Given the description of an element on the screen output the (x, y) to click on. 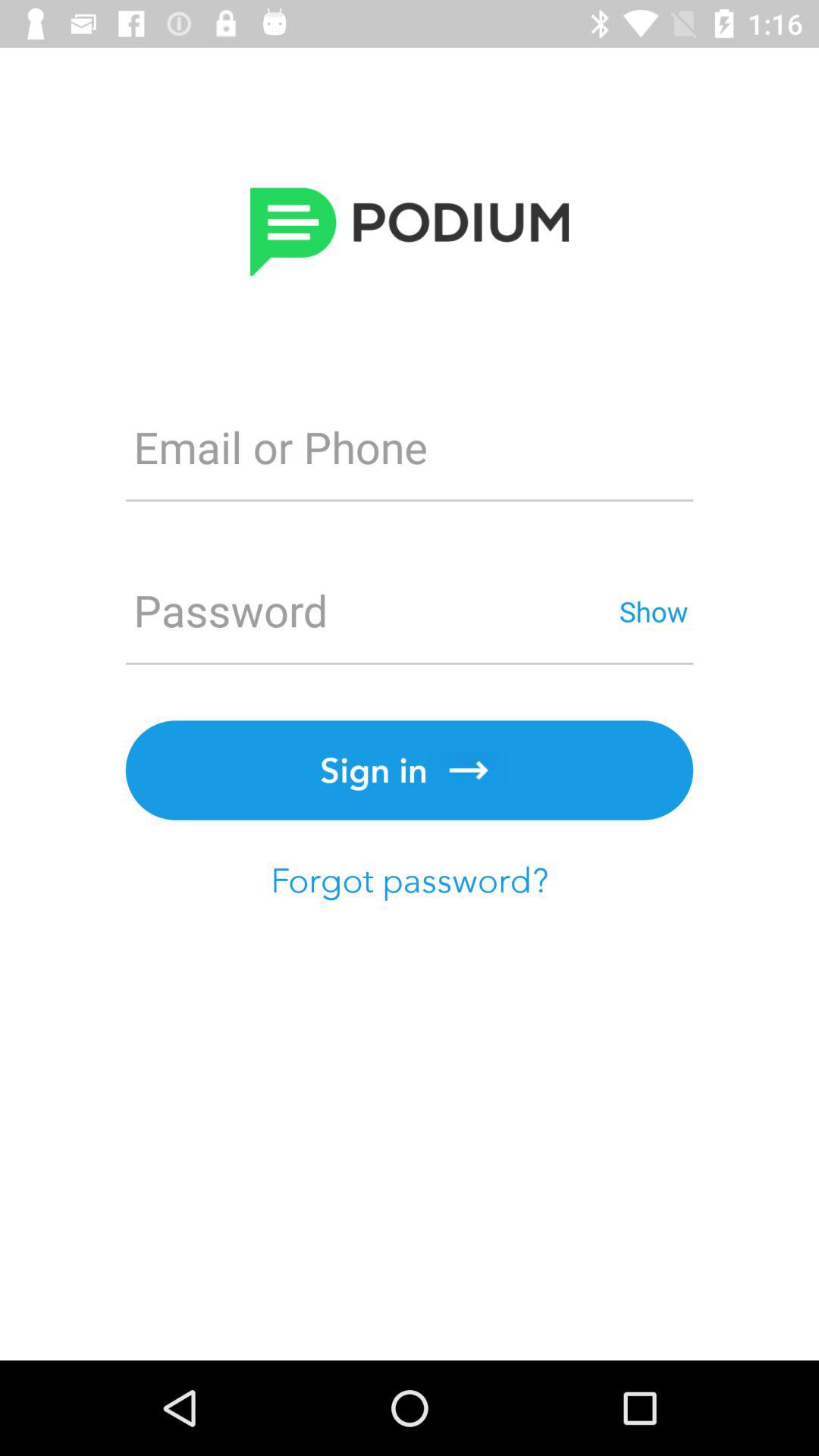
turn off item next to show (369, 610)
